Given the description of an element on the screen output the (x, y) to click on. 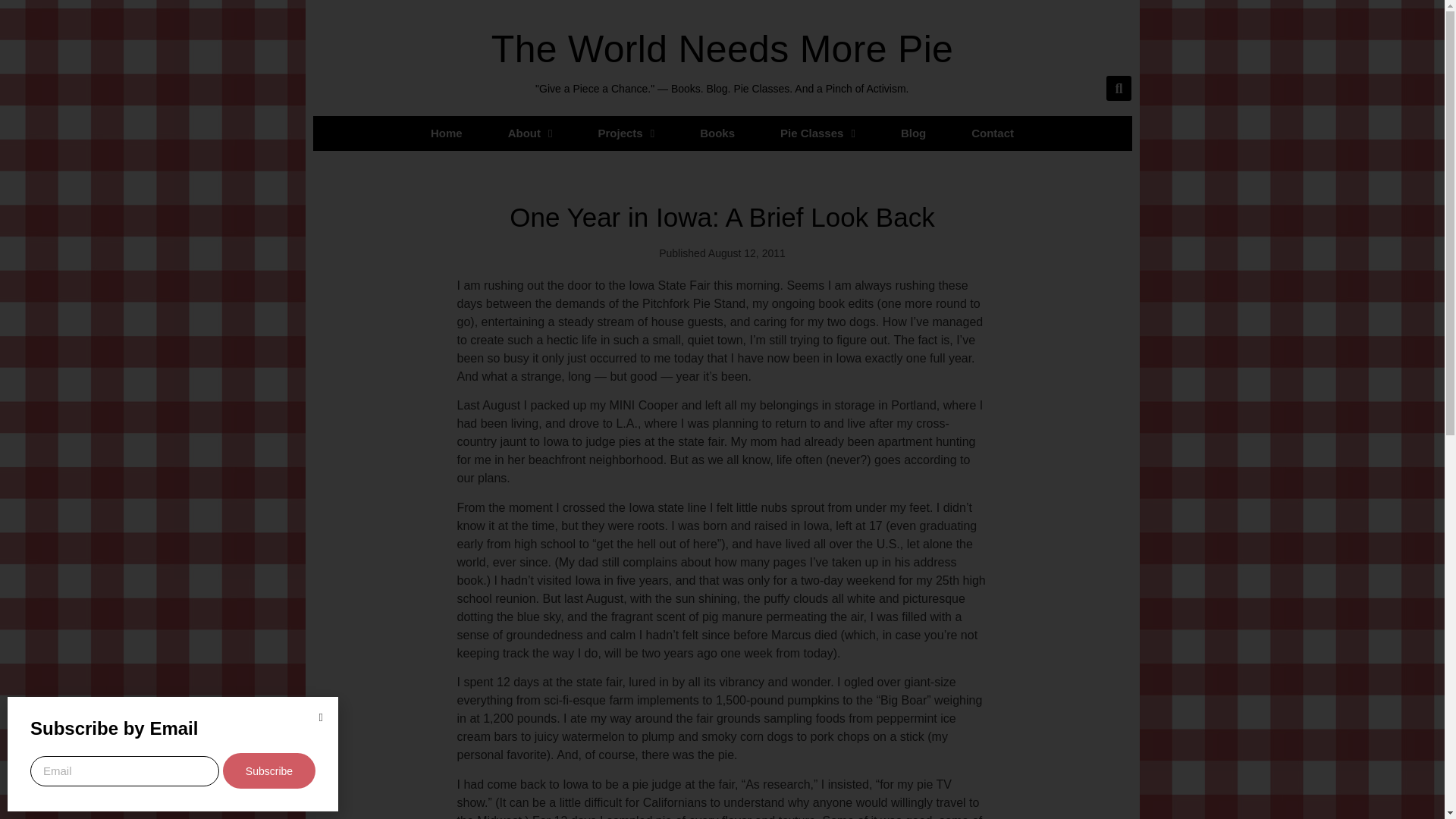
Subscribe by Email (114, 728)
Books (717, 133)
Home (445, 133)
The World Needs More Pie (722, 48)
Projects (626, 133)
Blog (913, 133)
Pie Classes (817, 133)
About (529, 133)
Contact (992, 133)
